Given the description of an element on the screen output the (x, y) to click on. 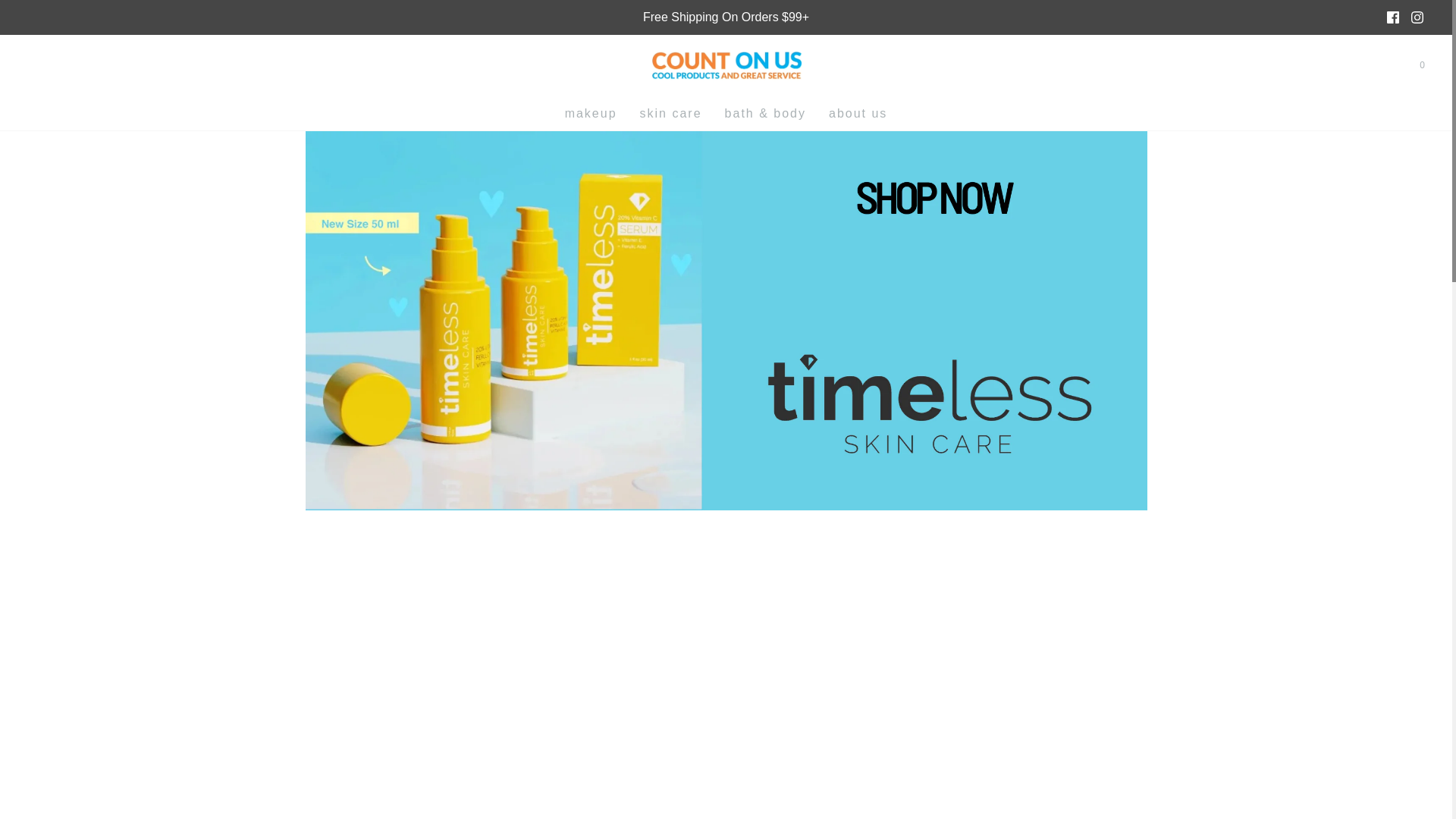
makeup (590, 113)
Instagram icon (1417, 16)
Instagram icon (1416, 17)
Facebook icon (1392, 16)
Cart (1420, 65)
Facebook icon (1393, 17)
skin care (670, 113)
0 (1420, 65)
